Given the description of an element on the screen output the (x, y) to click on. 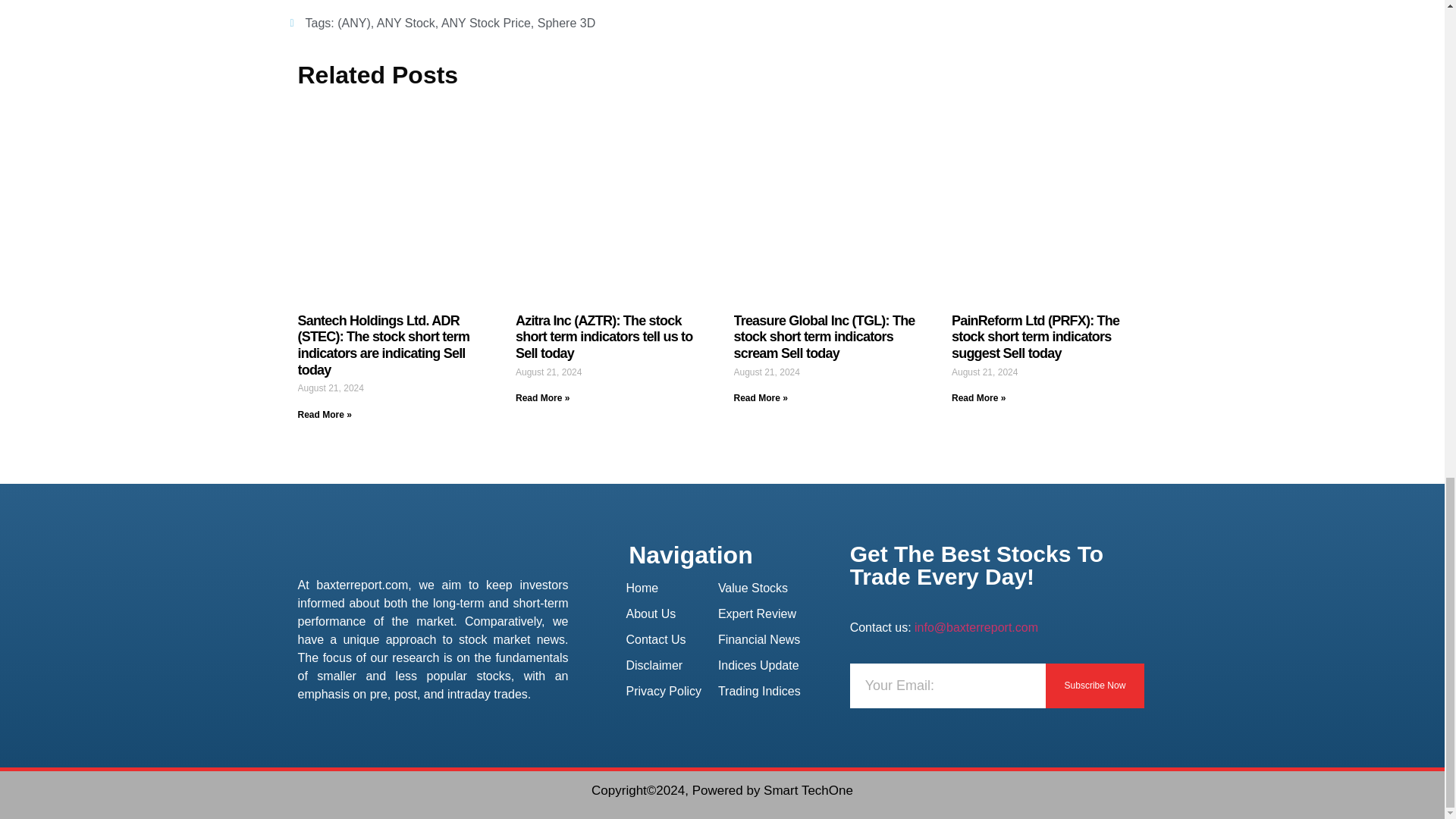
ANY Stock Price (486, 22)
Sphere 3D (566, 22)
ANY Stock (406, 22)
